Given the description of an element on the screen output the (x, y) to click on. 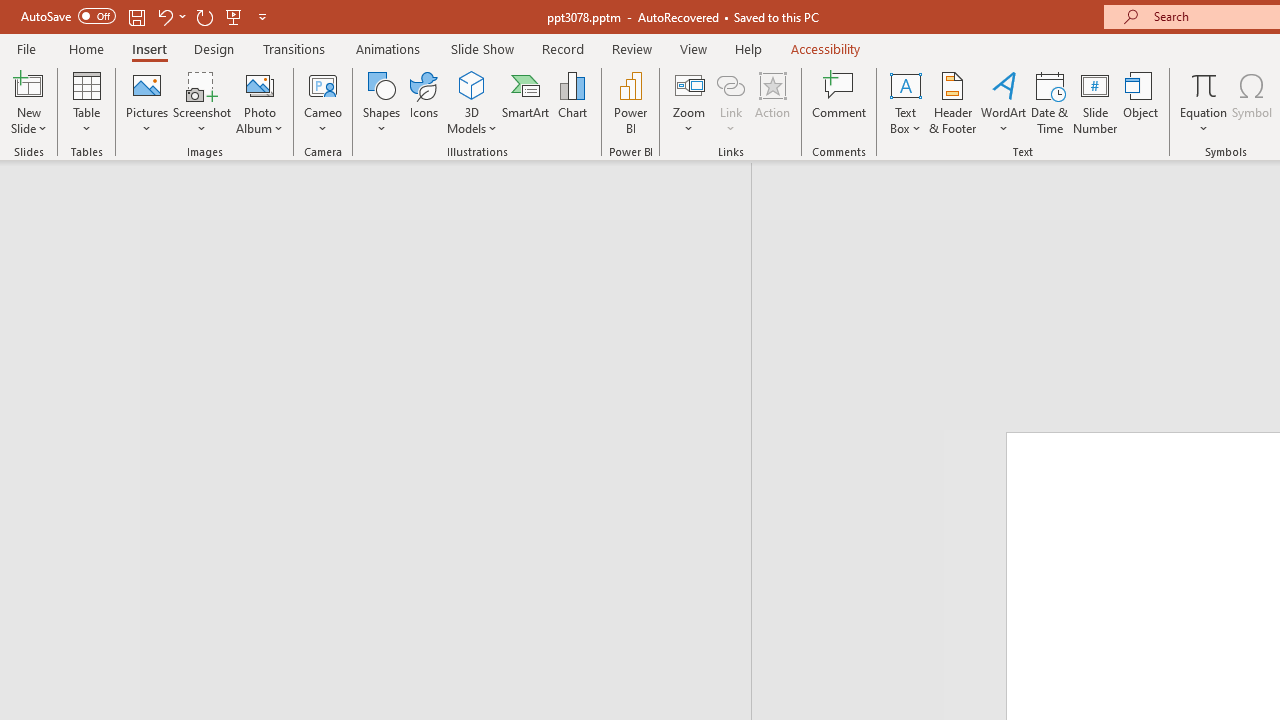
Symbol... (1252, 102)
Link (731, 84)
Photo Album... (259, 102)
